Given the description of an element on the screen output the (x, y) to click on. 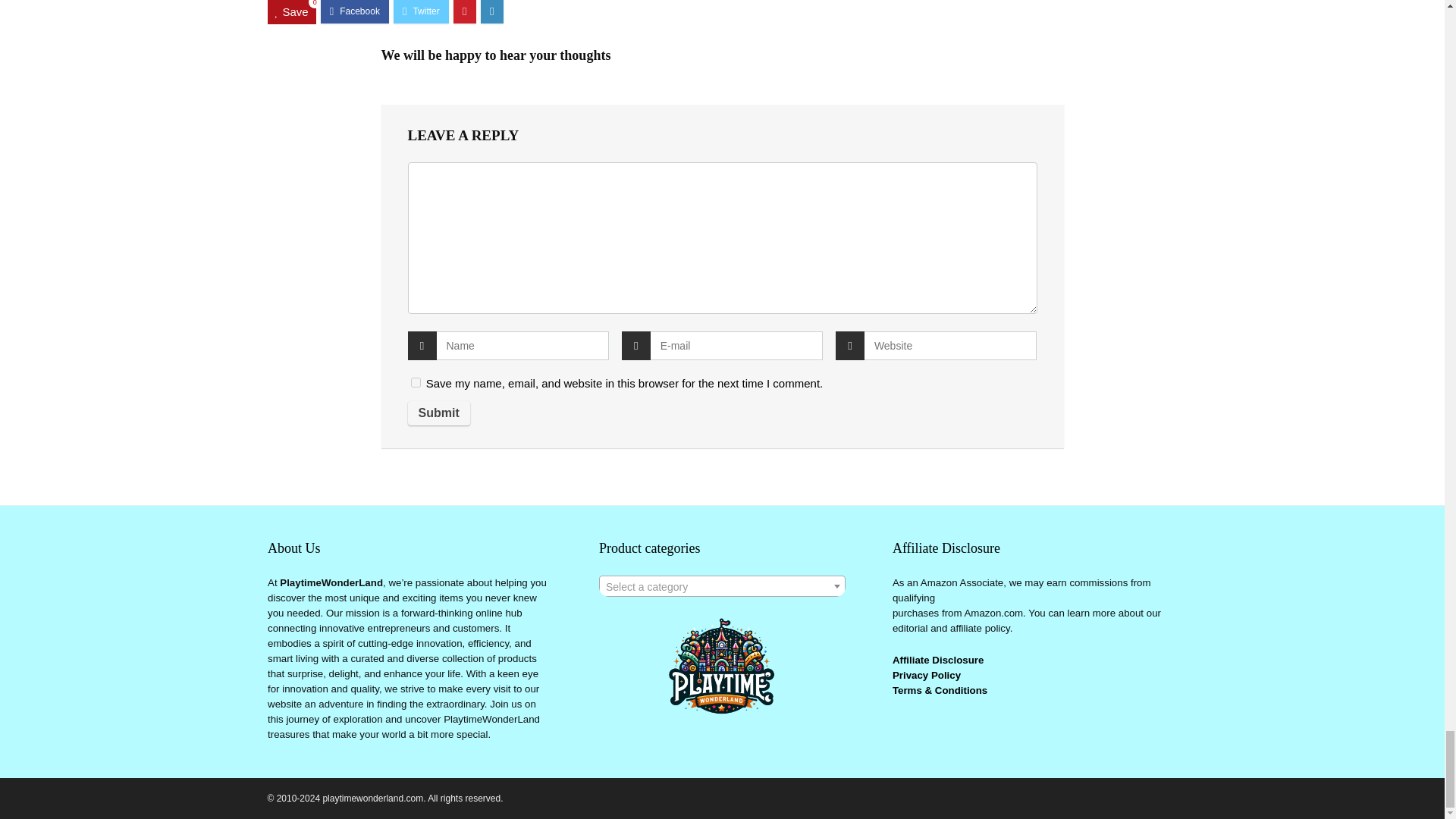
Submit (438, 413)
yes (415, 382)
